Given the description of an element on the screen output the (x, y) to click on. 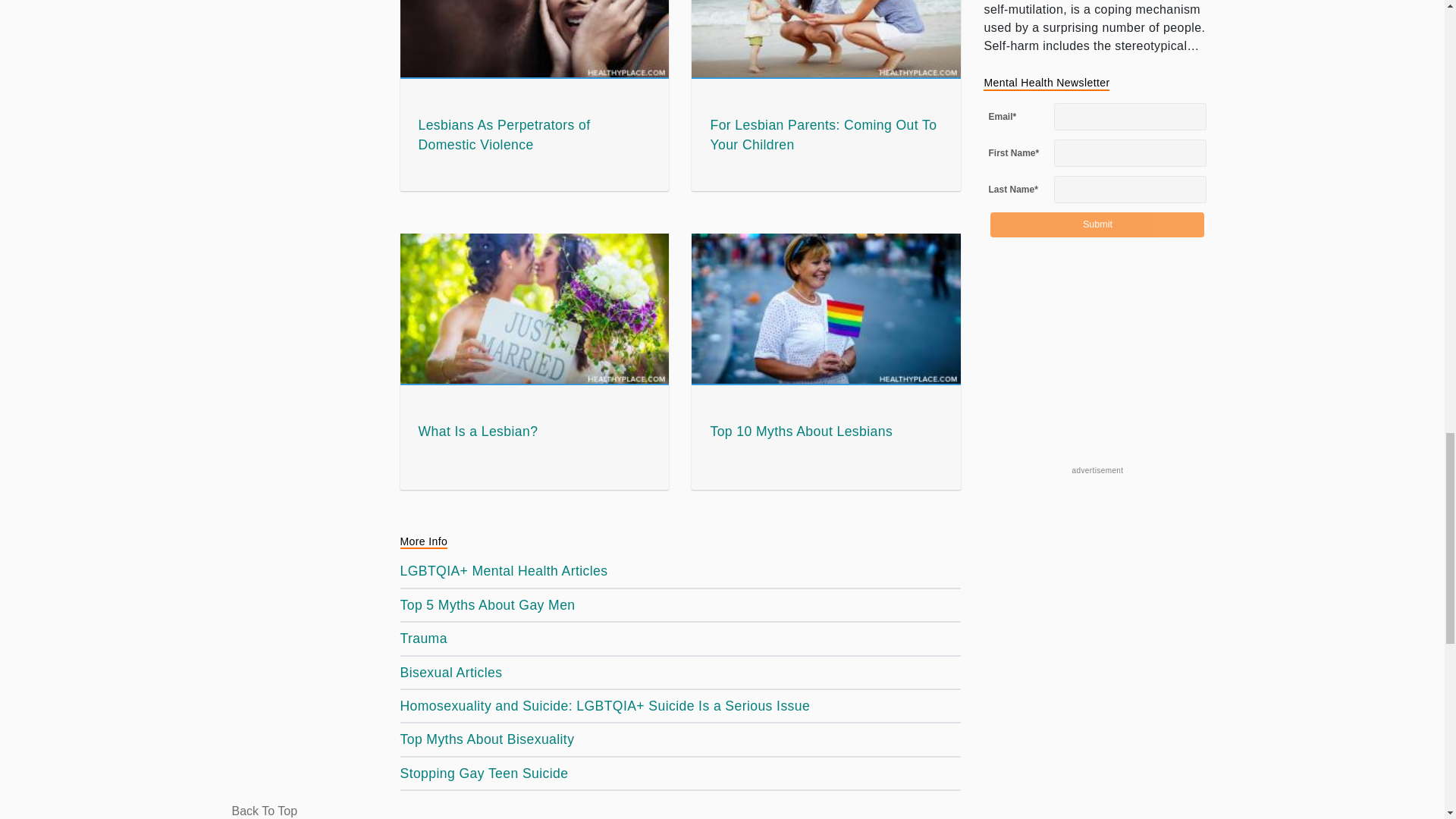
Submit (1097, 224)
